Given the description of an element on the screen output the (x, y) to click on. 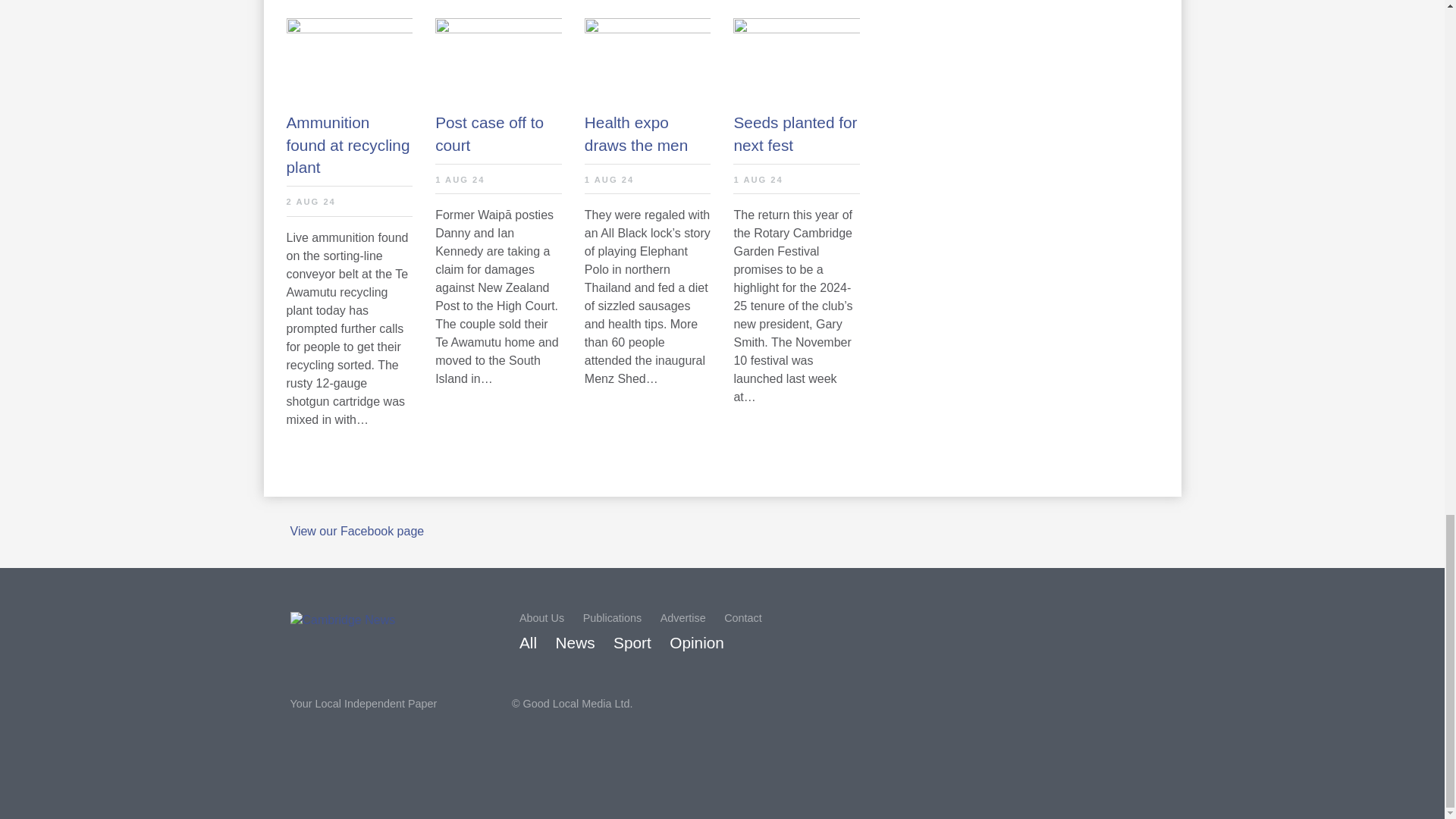
Contact (742, 617)
Ammunition found at recycling plant (349, 144)
Publications (612, 617)
News (575, 642)
Advertise (683, 617)
All (528, 642)
Seeds planted for next fest (796, 133)
Health expo draws the men (648, 133)
Post case off to court (498, 133)
View our Facebook page (356, 530)
